Given the description of an element on the screen output the (x, y) to click on. 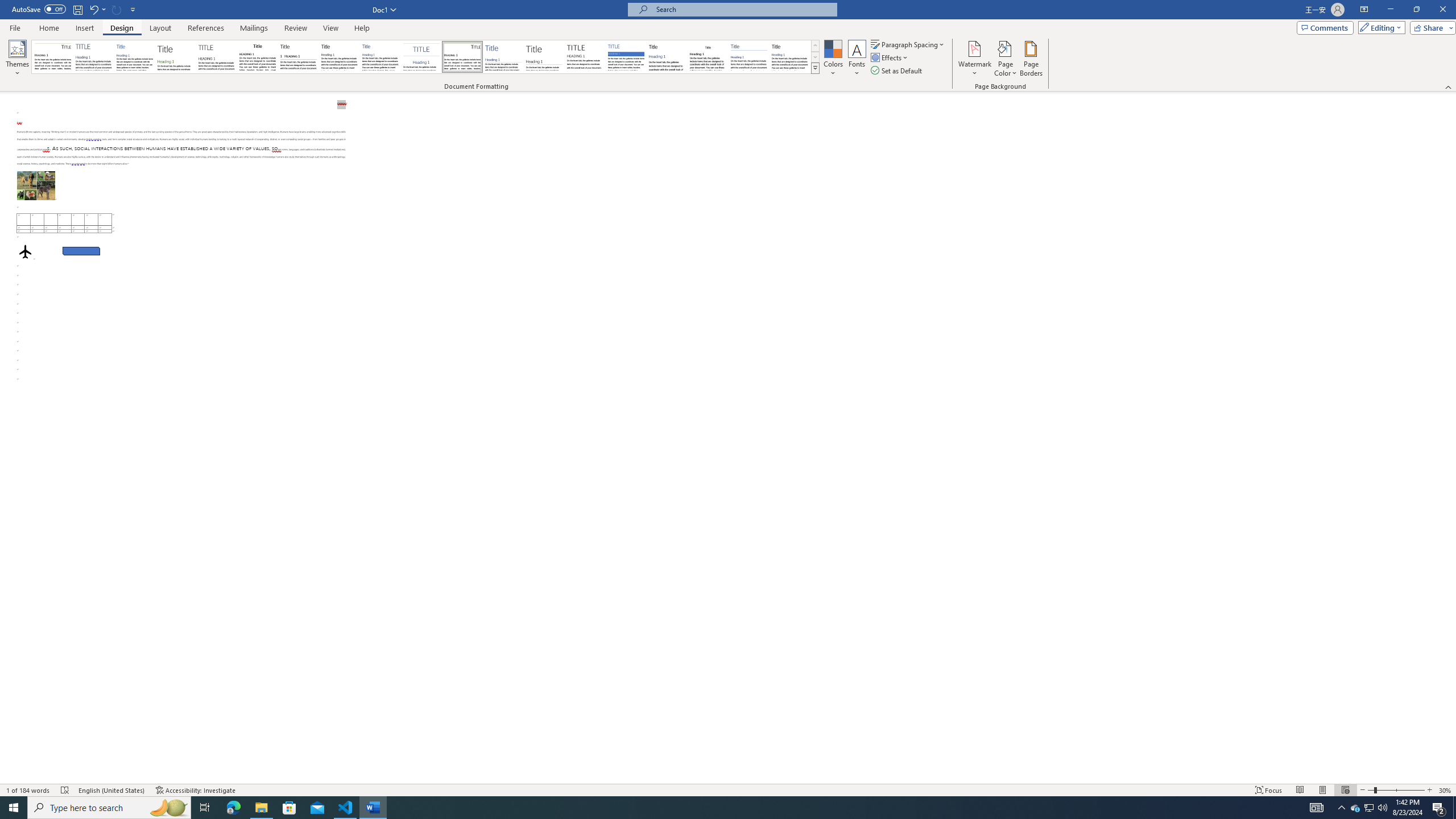
Basic (Elegant) (93, 56)
Black & White (Classic) (257, 56)
Lines (Stylish) (544, 56)
Basic (Stylish) (175, 56)
Basic (Simple) (135, 56)
Effects (890, 56)
Airplane with solid fill (25, 251)
Lines (Simple) (503, 56)
